Given the description of an element on the screen output the (x, y) to click on. 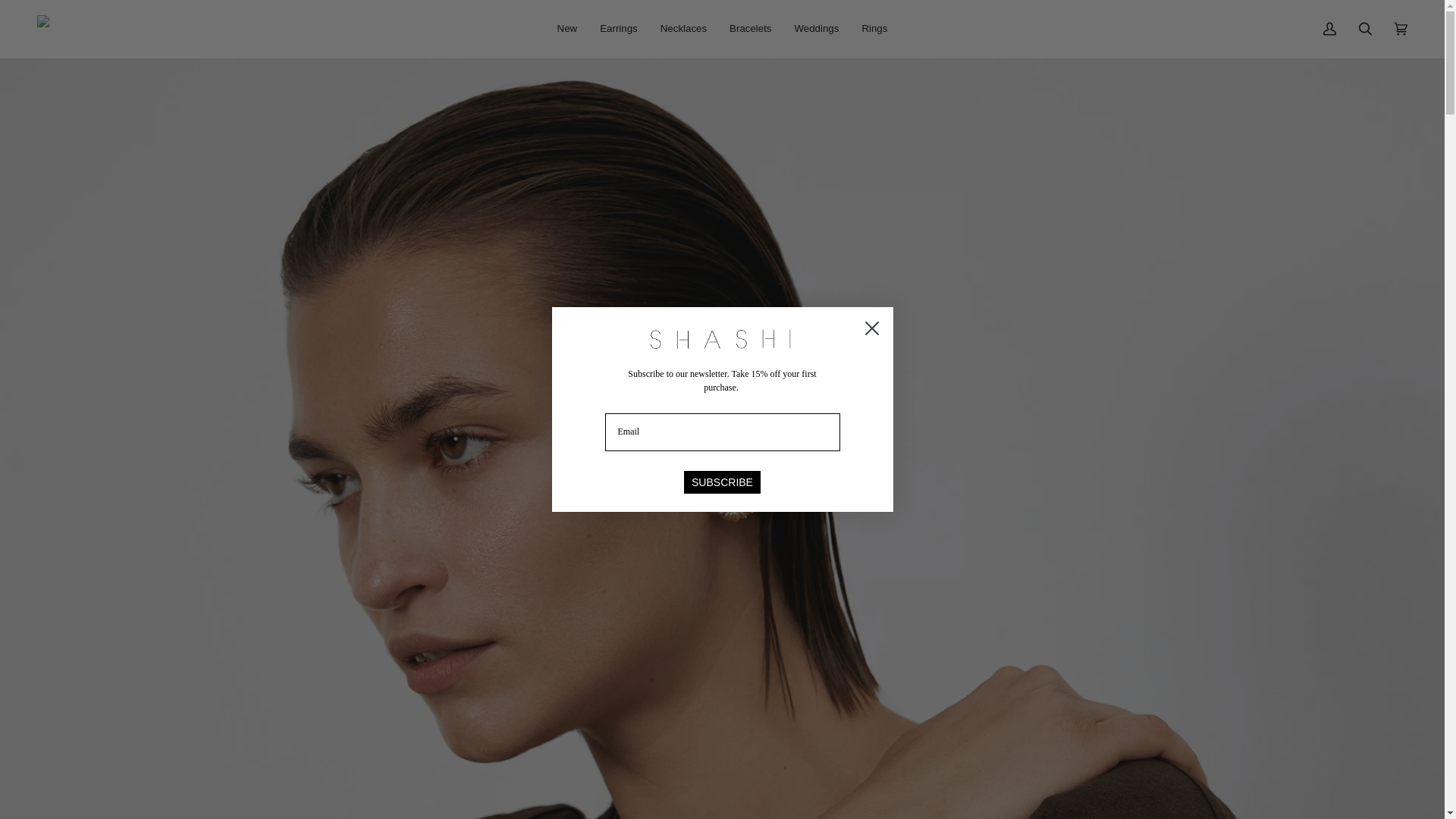
Bracelets (750, 28)
Weddings (816, 28)
Necklaces (683, 28)
Earrings (618, 28)
